Given the description of an element on the screen output the (x, y) to click on. 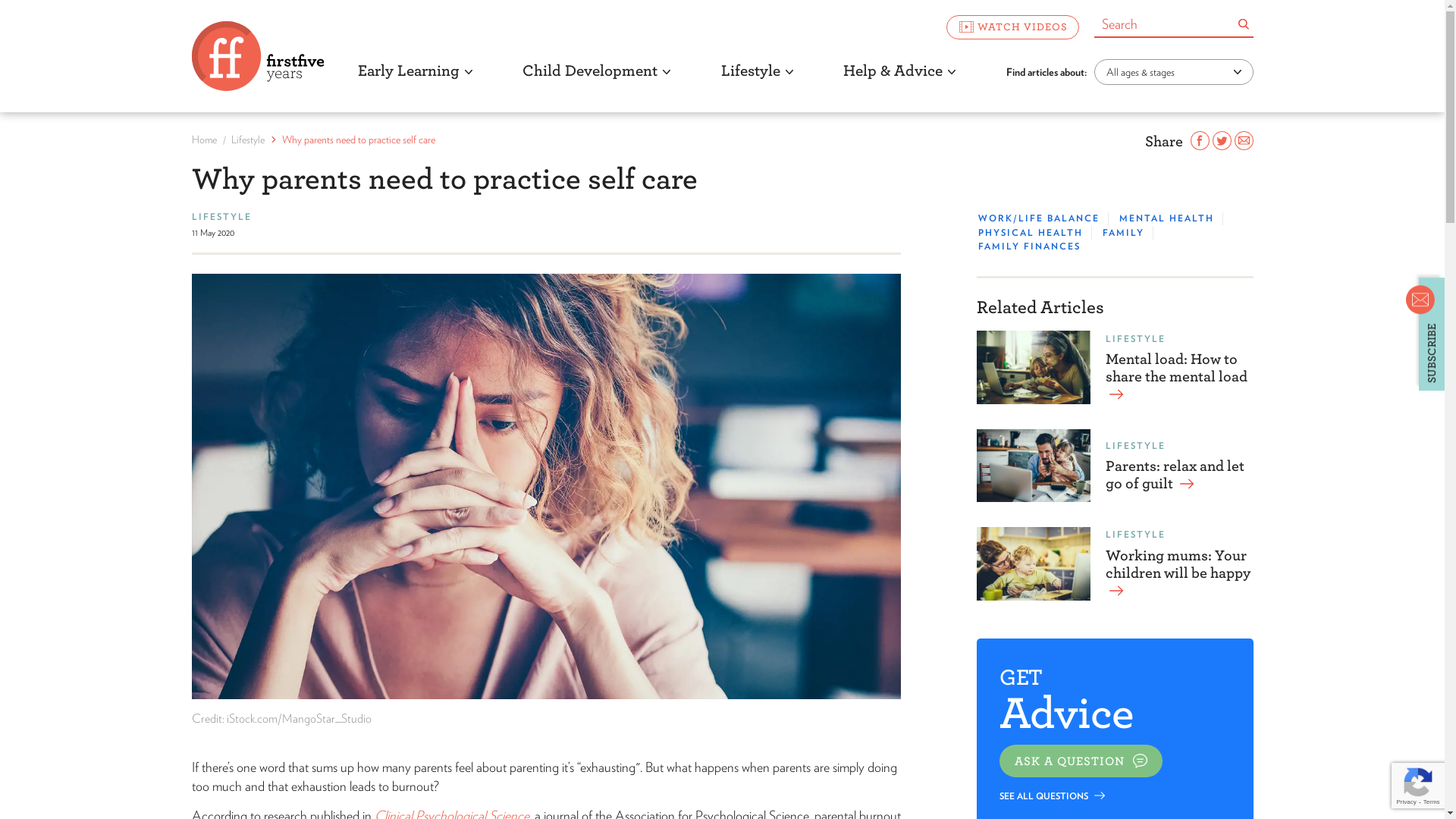
SEE ALL QUESTIONS Element type: text (1051, 794)
MENTAL HEALTH Element type: text (1166, 218)
First Five Years Element type: hover (257, 55)
Help & Advice Element type: text (898, 82)
Early Learning Element type: text (414, 82)
WORK/LIFE BALANCE Element type: text (1038, 218)
Share to Twitter Element type: text (1220, 140)
LIFESTYLE
Working mums: Your children will be happy Element type: text (1114, 563)
Lifestyle Element type: text (246, 139)
Home Element type: text (203, 139)
LIFESTYLE
Parents: relax and let go of guilt Element type: text (1114, 465)
LIFESTYLE
Mental load: How to share the mental load Element type: text (1114, 366)
All ages & stages Element type: text (1172, 71)
Search Element type: text (1242, 24)
FAMILY Element type: text (1123, 232)
ASK A QUESTION Element type: text (1080, 760)
WATCH VIDEOS Element type: text (1012, 27)
FAMILY FINANCES Element type: text (1029, 246)
PHYSICAL HEALTH Element type: text (1030, 232)
Share Facebook Element type: text (1199, 140)
Share to Email Element type: text (1243, 140)
Child Development Element type: text (596, 82)
Lifestyle Element type: text (756, 82)
